Given the description of an element on the screen output the (x, y) to click on. 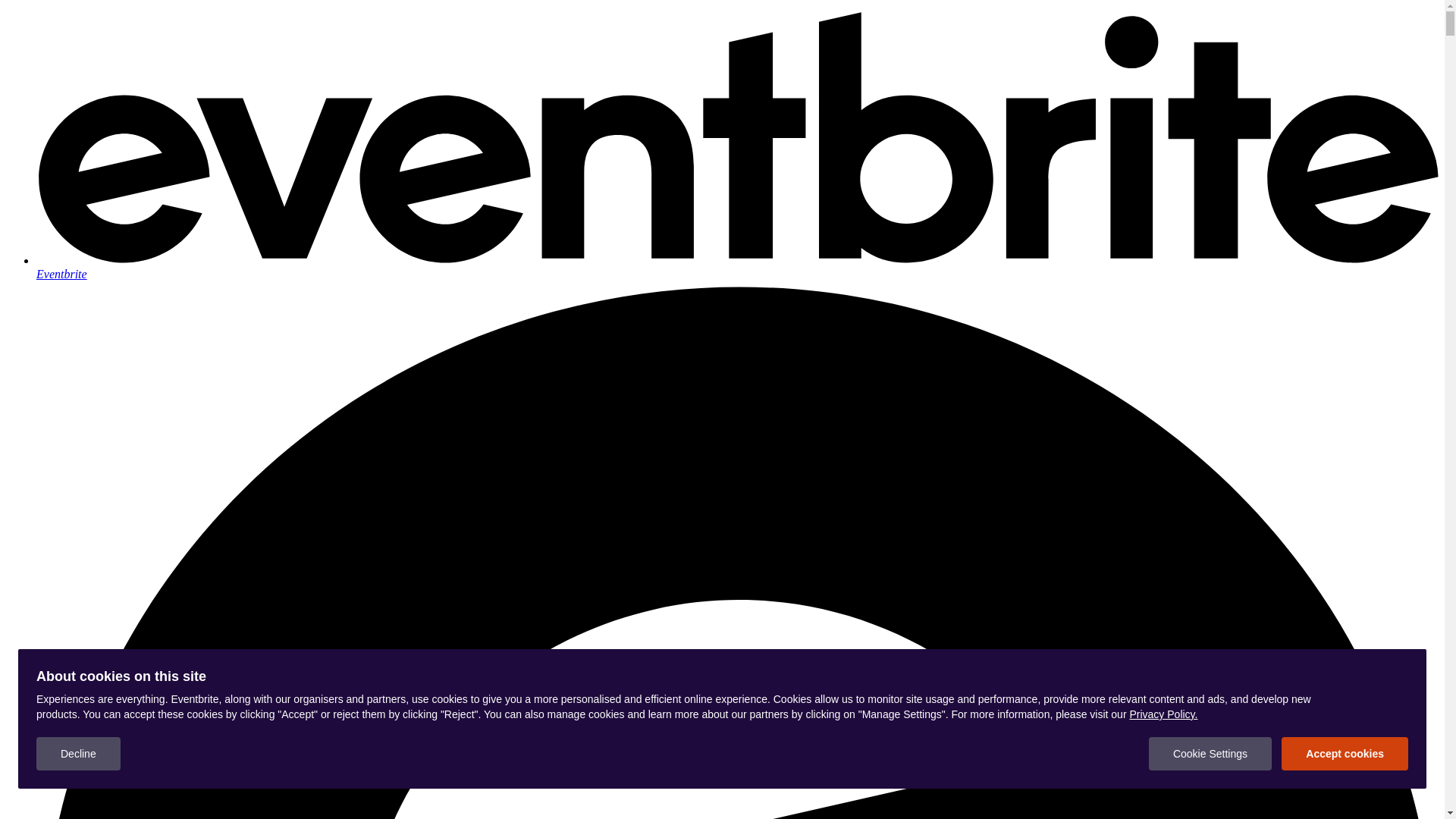
Privacy Policy. Element type: text (1163, 714)
Accept cookies Element type: text (1344, 753)
Cookie Settings Element type: text (1209, 753)
Decline Element type: text (78, 753)
Eventbrite Element type: text (737, 267)
